Given the description of an element on the screen output the (x, y) to click on. 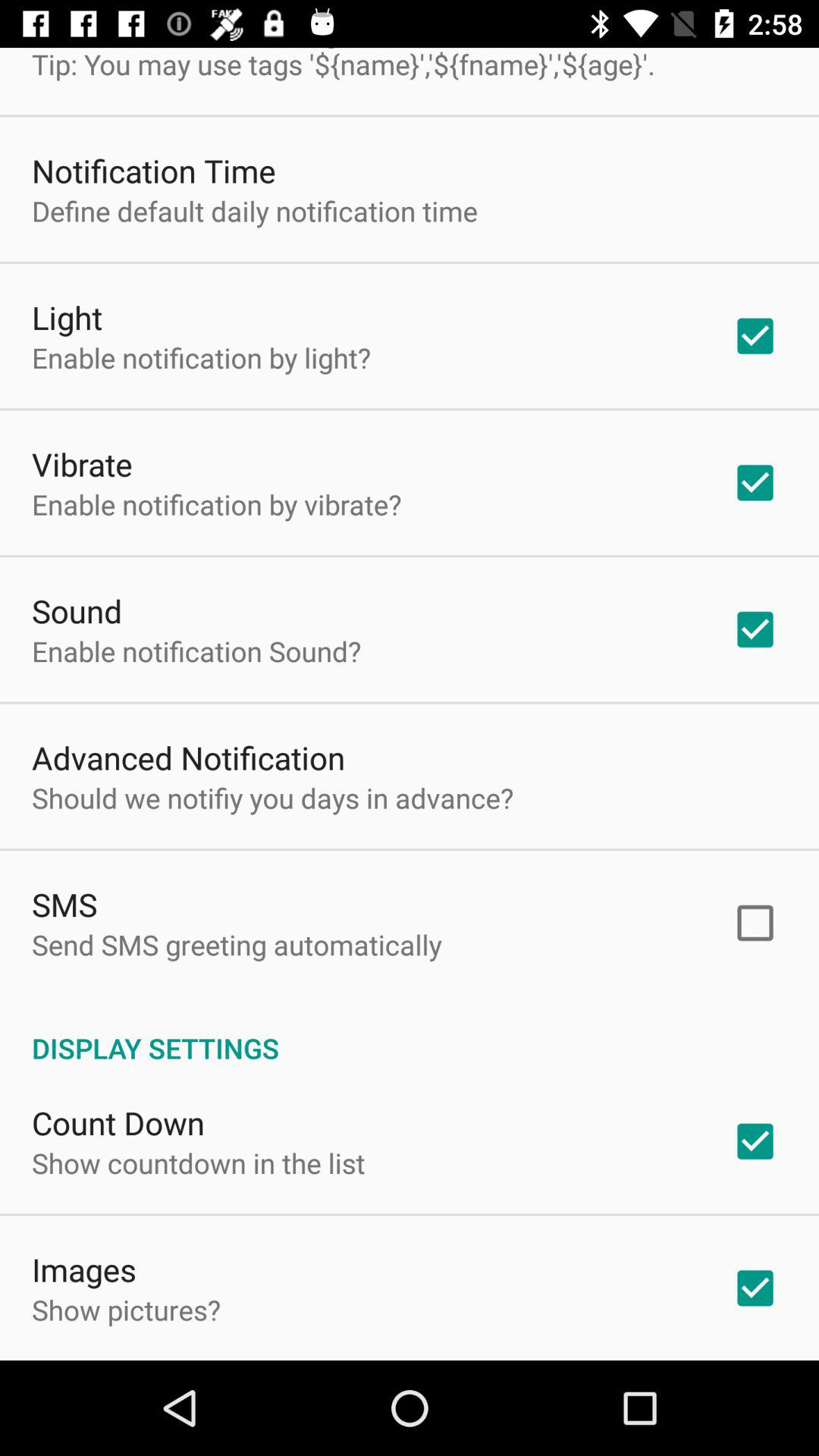
click the should we notifiy app (272, 797)
